Given the description of an element on the screen output the (x, y) to click on. 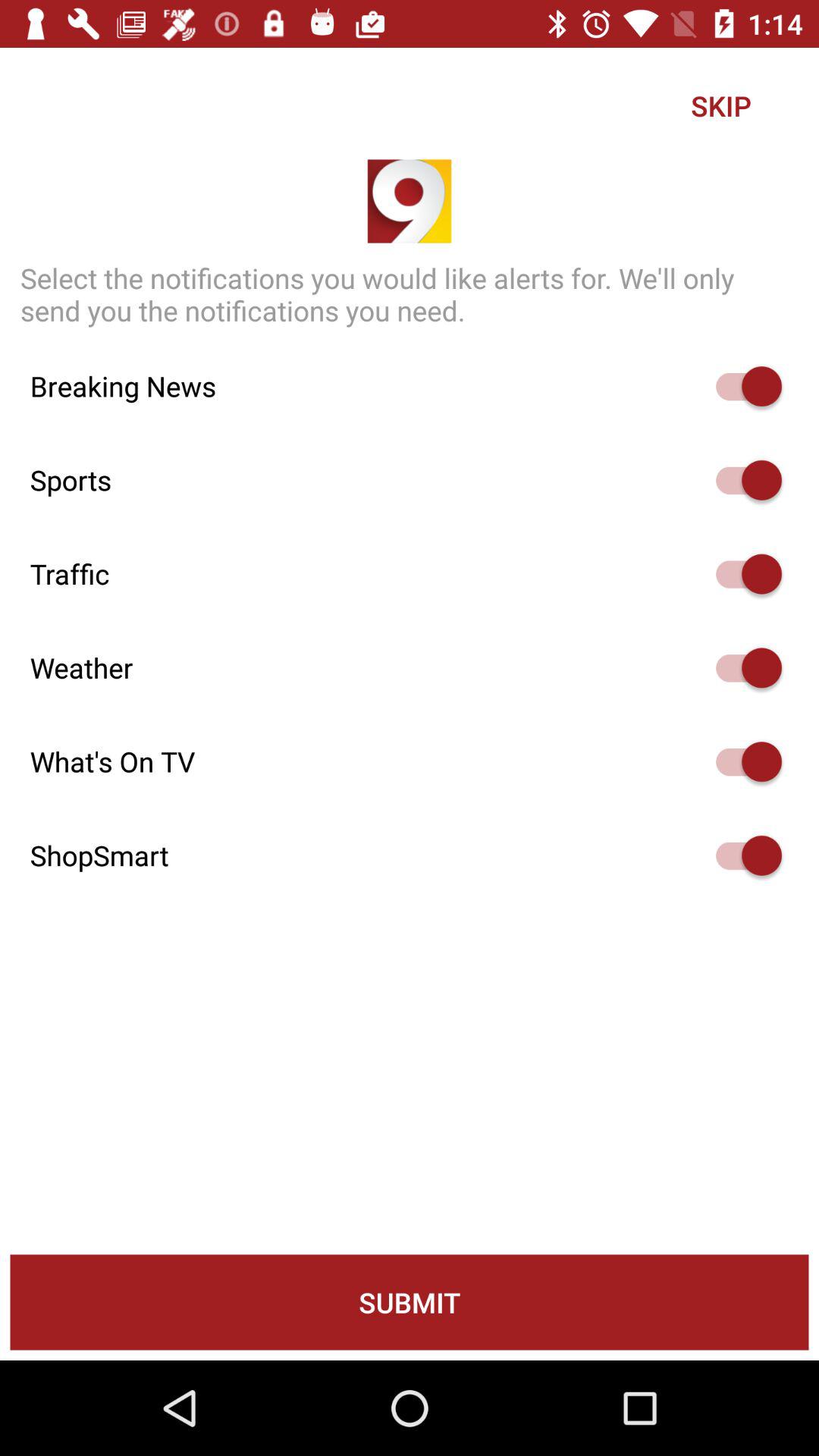
turn off (741, 761)
